Given the description of an element on the screen output the (x, y) to click on. 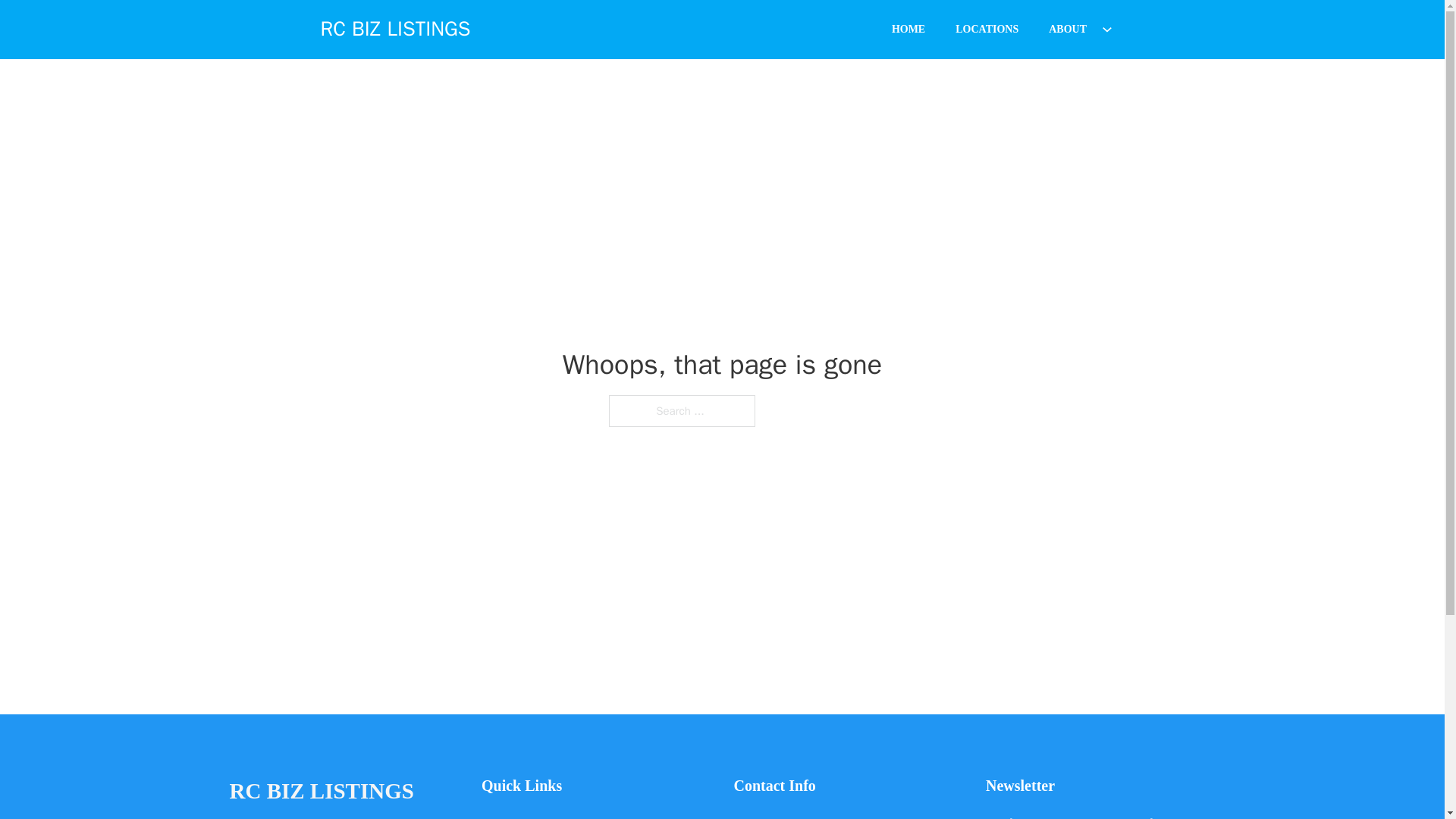
RC BIZ LISTINGS (395, 28)
Home (496, 816)
RC BIZ LISTINGS (320, 791)
LOCATIONS (987, 29)
HOME (908, 29)
